Given the description of an element on the screen output the (x, y) to click on. 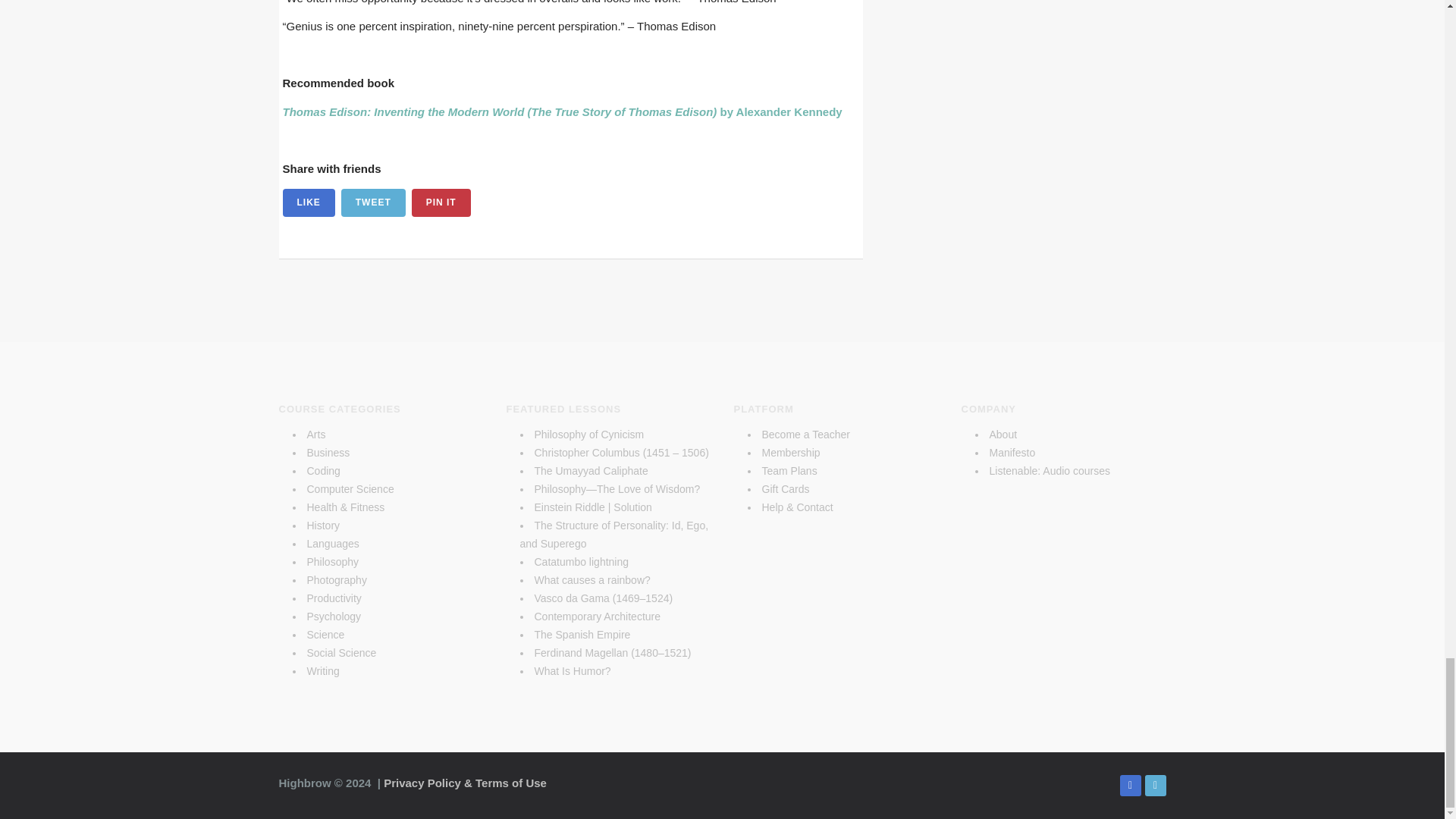
Productivity (333, 598)
Arts (314, 434)
TWEET (373, 203)
Business (327, 452)
Science (324, 634)
Languages (331, 543)
Psychology (333, 616)
LIKE (308, 203)
History (322, 525)
PIN IT (441, 203)
